Given the description of an element on the screen output the (x, y) to click on. 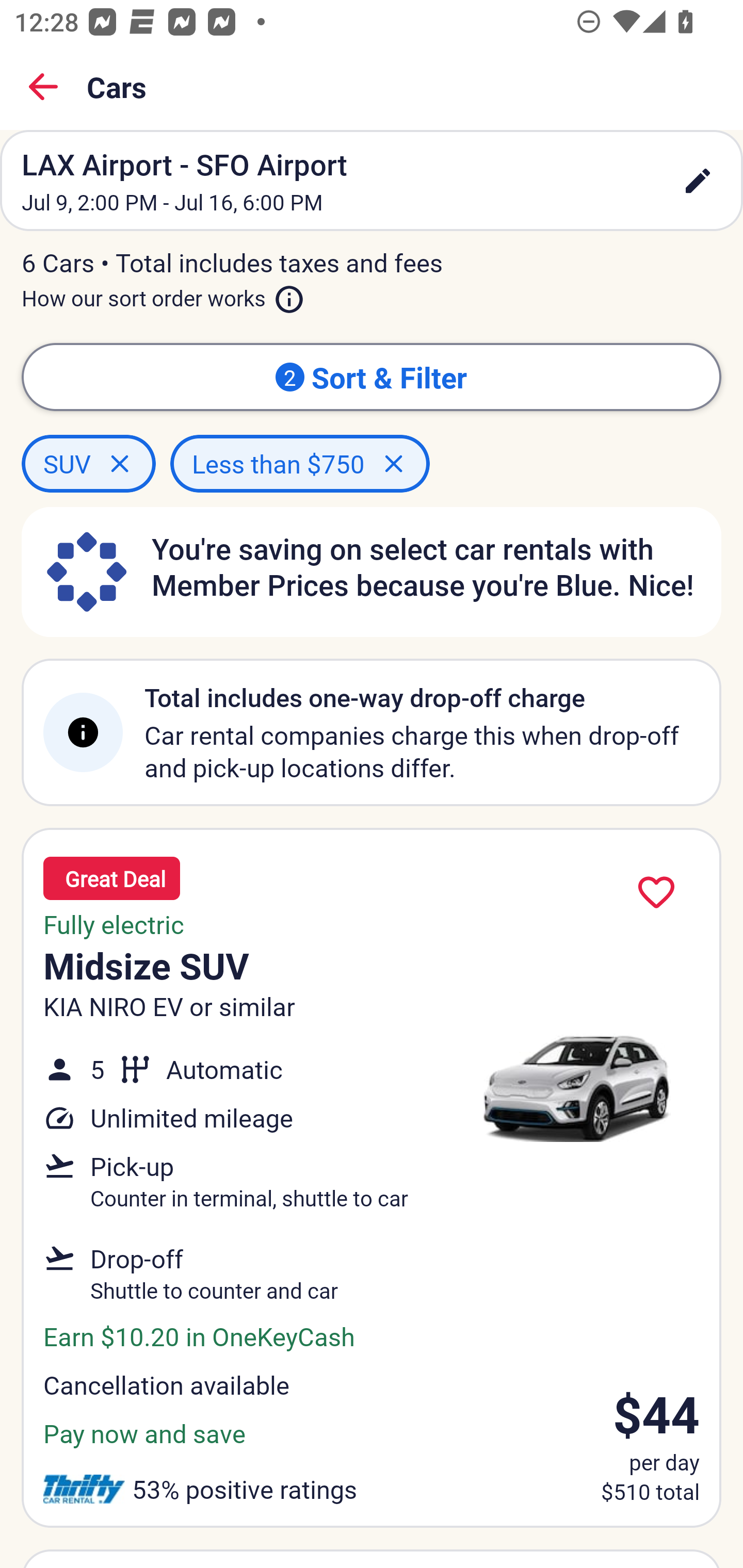
Back (43, 86)
edit (697, 180)
How our sort order works (163, 294)
2 Sort & Filter (371, 376)
